Given the description of an element on the screen output the (x, y) to click on. 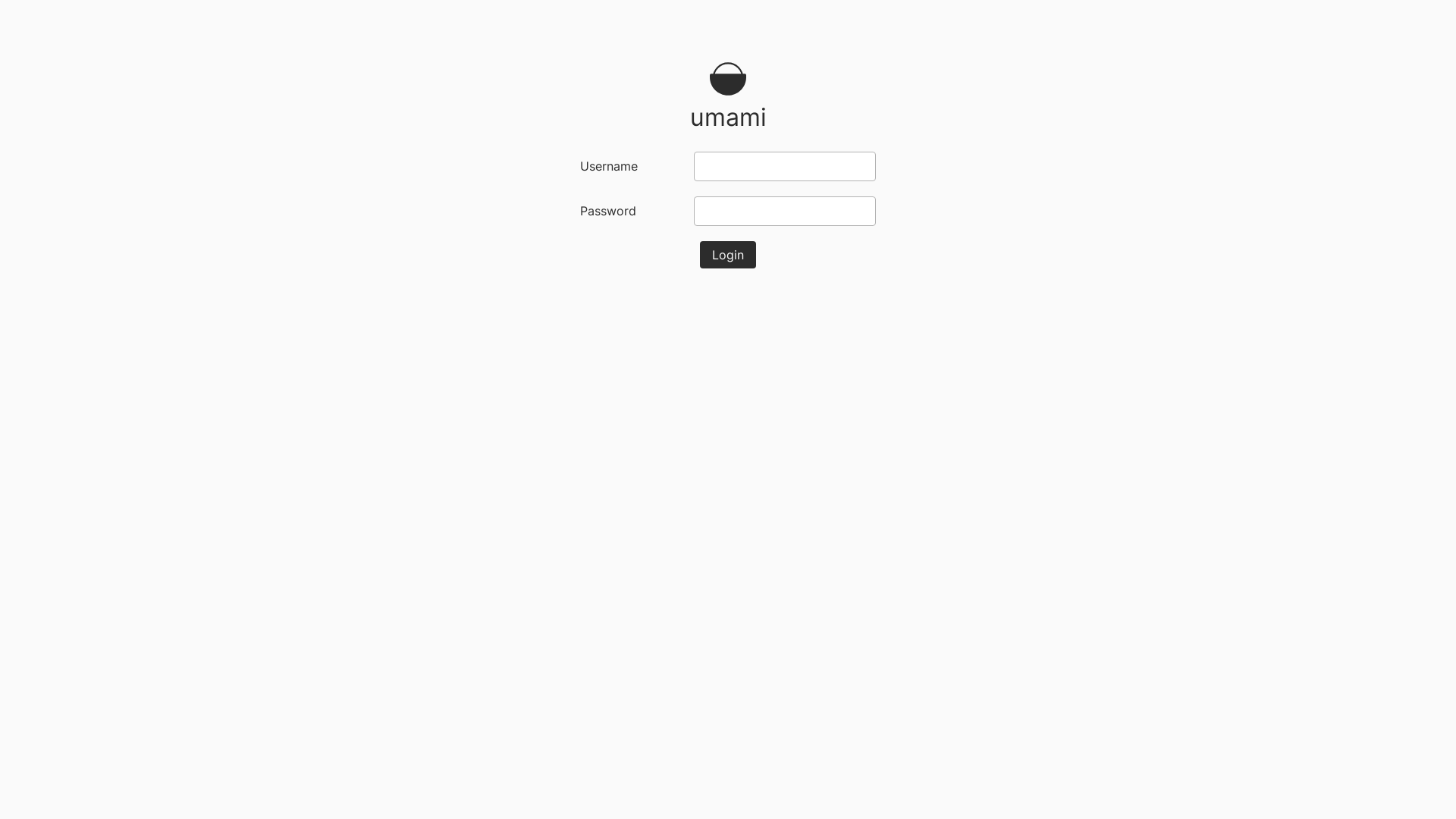
Login Element type: text (727, 254)
